Given the description of an element on the screen output the (x, y) to click on. 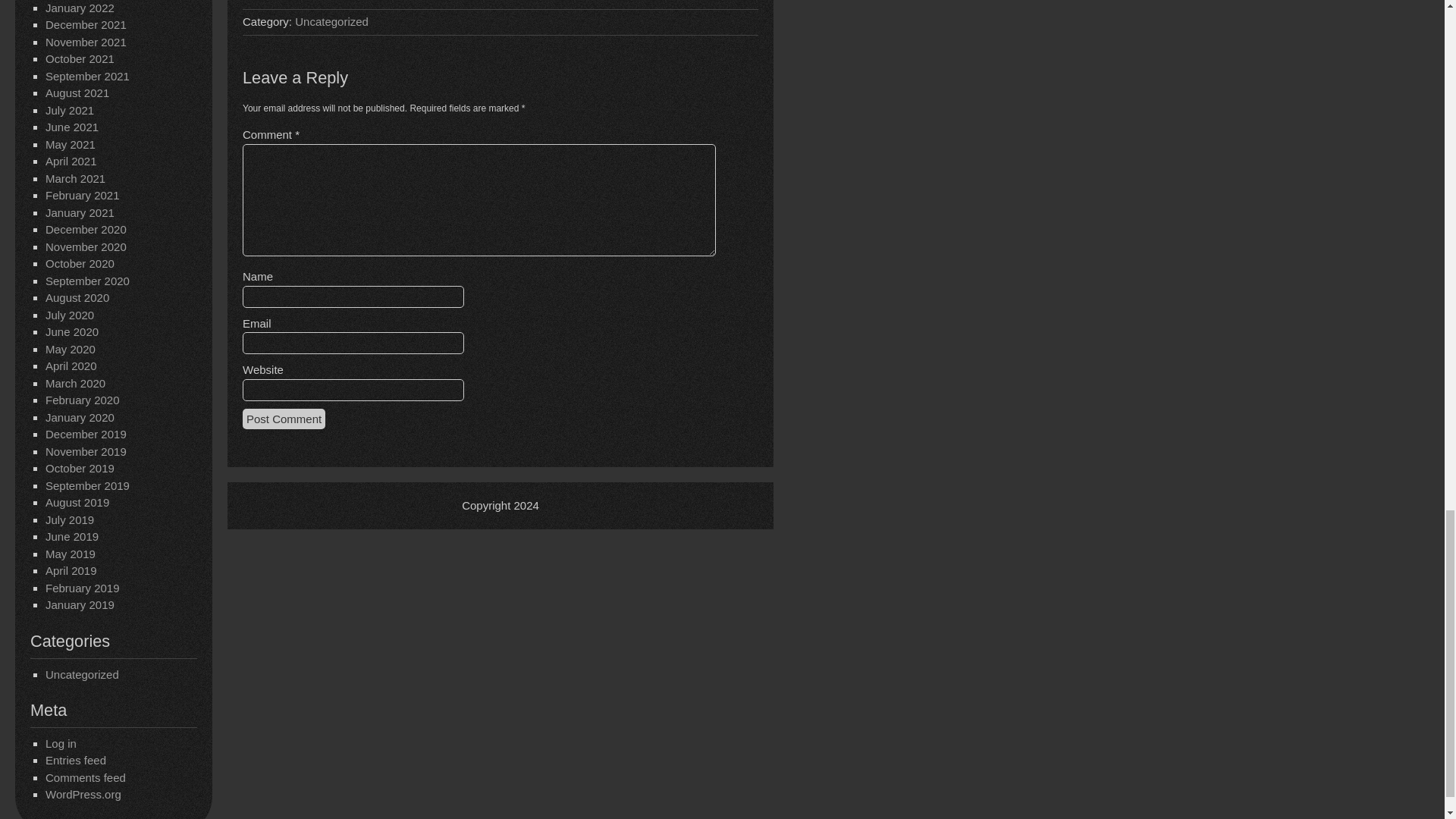
Post Comment (283, 418)
